Given the description of an element on the screen output the (x, y) to click on. 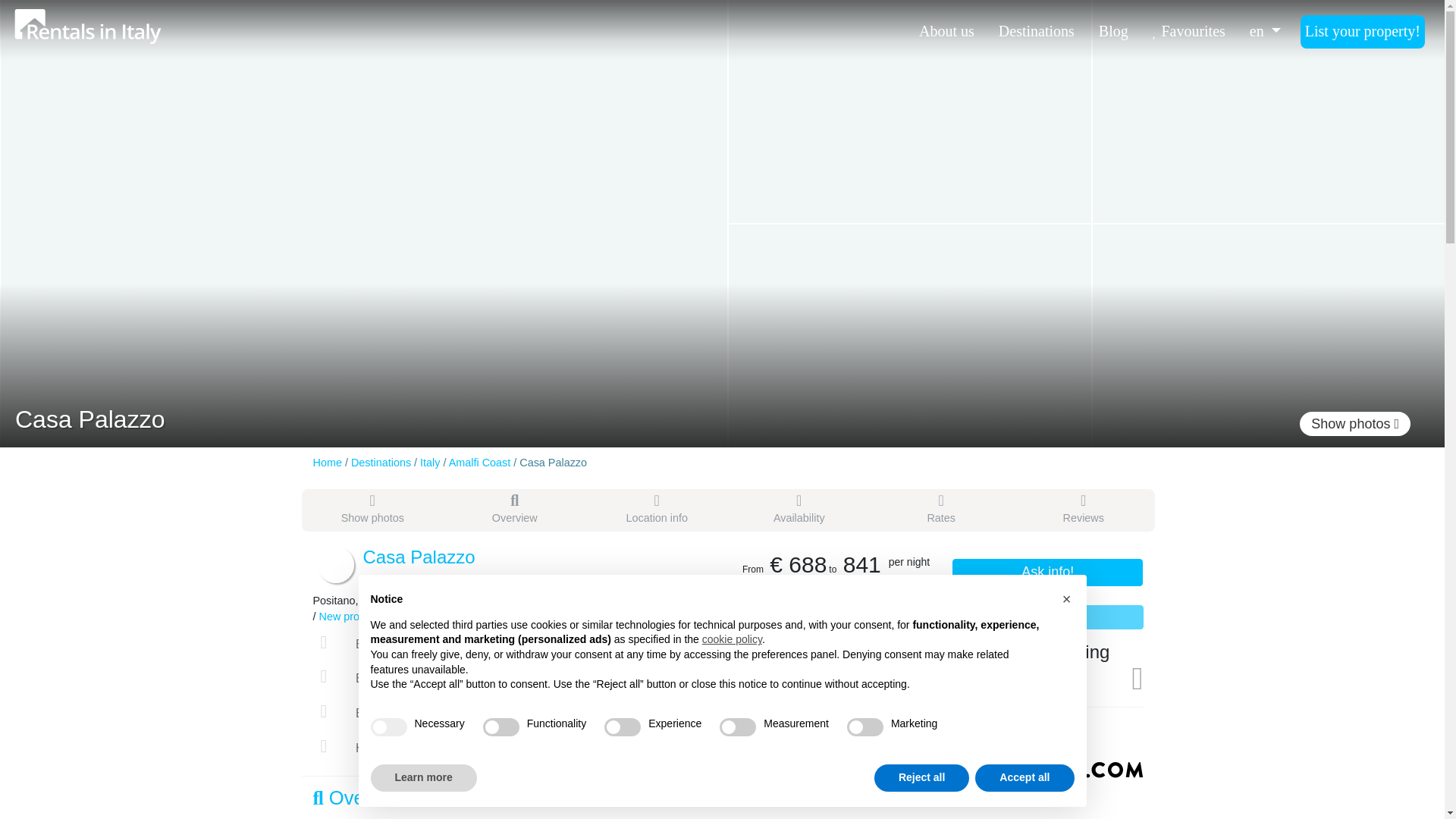
Availability (799, 509)
Overview (515, 509)
Location info (656, 509)
Availability (799, 509)
Overview (515, 509)
New property (351, 616)
Blog (1113, 30)
Select dates (1045, 617)
false (737, 727)
Reviews (1082, 509)
